Given the description of an element on the screen output the (x, y) to click on. 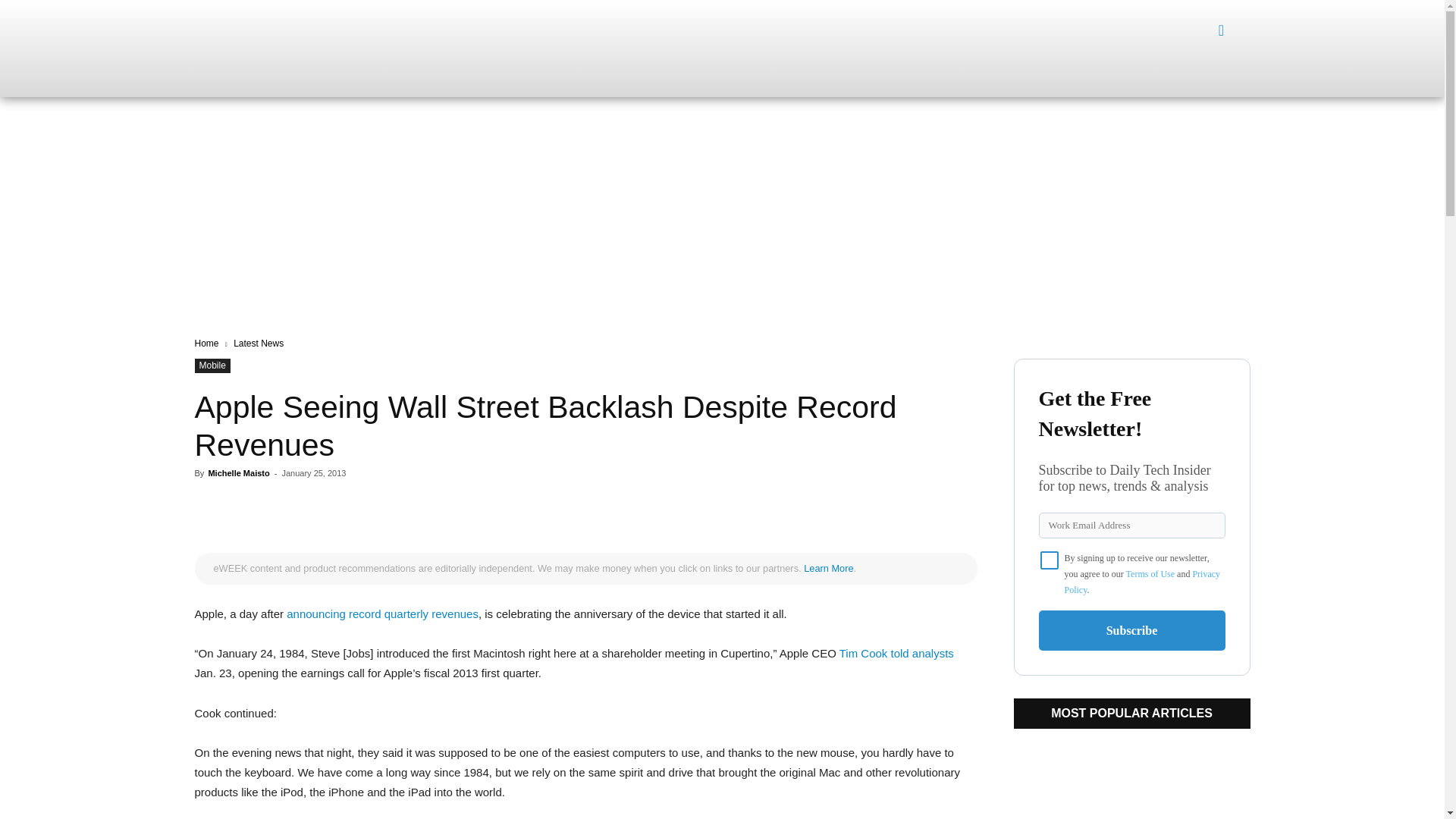
on (1049, 560)
